Given the description of an element on the screen output the (x, y) to click on. 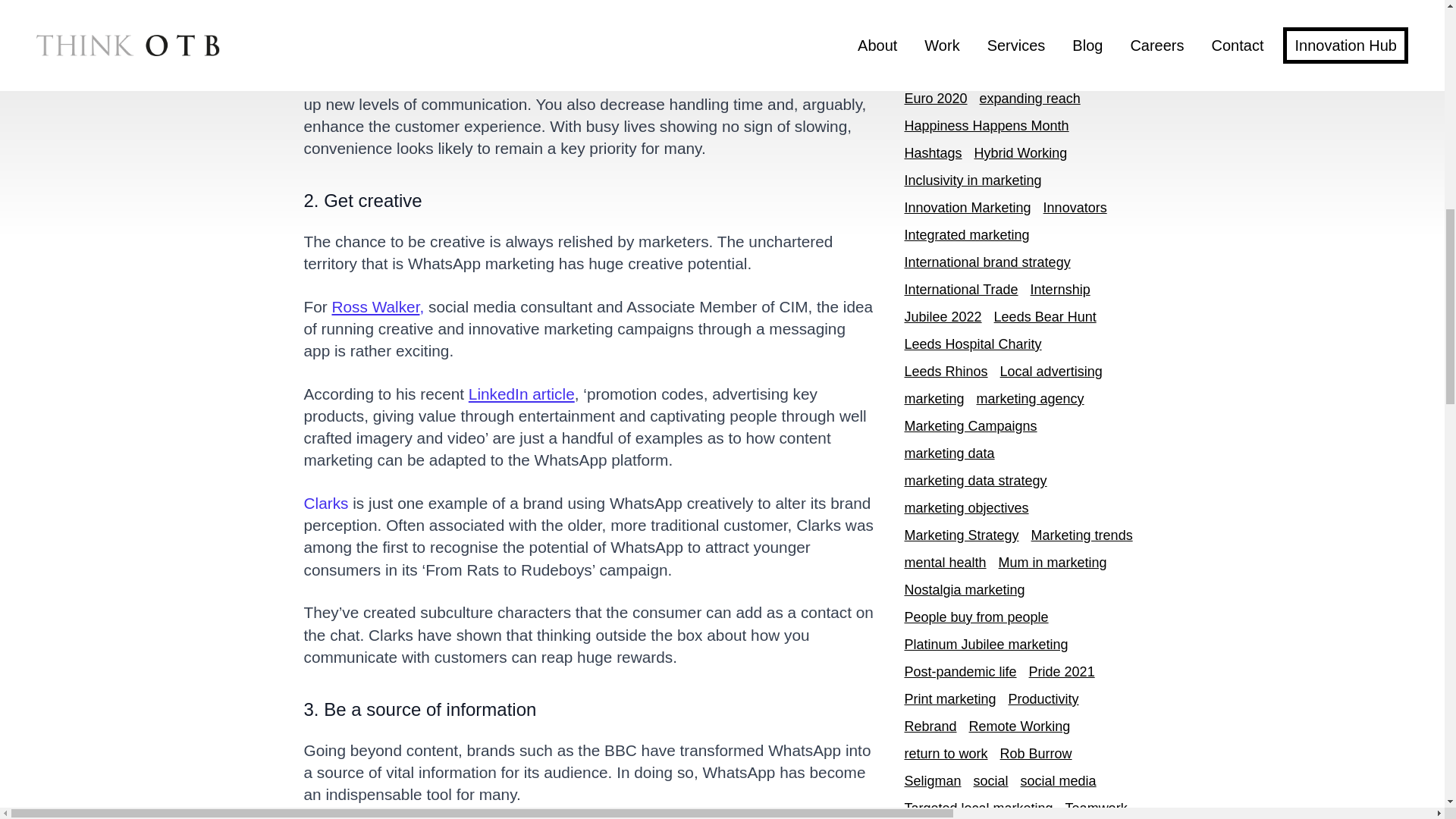
LinkedIn article (521, 393)
Ross Walker, (377, 306)
Clarks (324, 502)
